Given the description of an element on the screen output the (x, y) to click on. 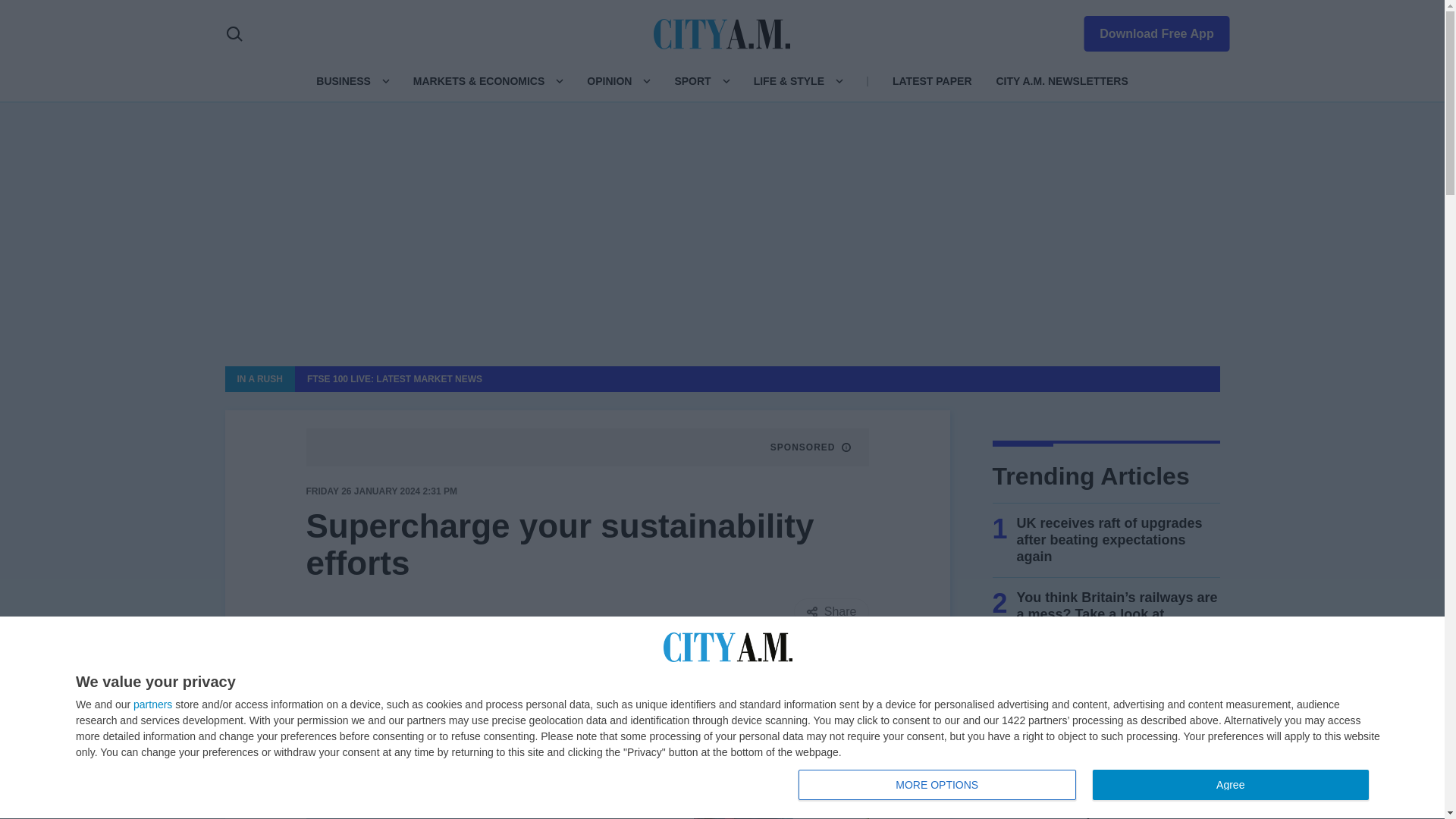
Agree (1230, 784)
BUSINESS (1086, 785)
Download Free App (343, 80)
MORE OPTIONS (1146, 30)
partners (936, 784)
CityAM (152, 704)
